Given the description of an element on the screen output the (x, y) to click on. 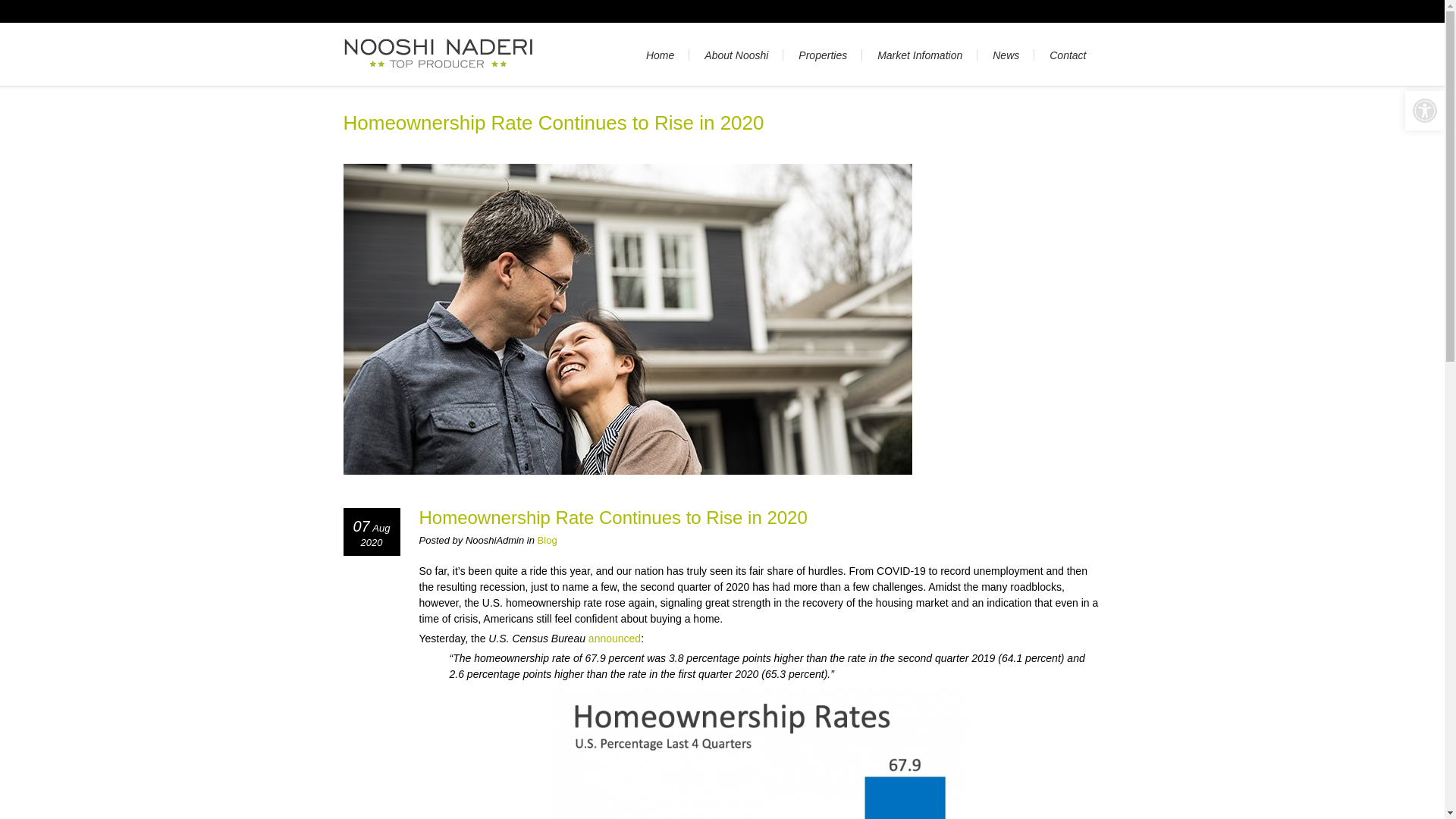
Accessibility Tools (1424, 110)
News (1004, 54)
announced (614, 638)
Market Infomation (918, 54)
Contact (1066, 54)
About Nooshi (735, 54)
Blog (547, 540)
Home (659, 54)
Properties (822, 54)
